Given the description of an element on the screen output the (x, y) to click on. 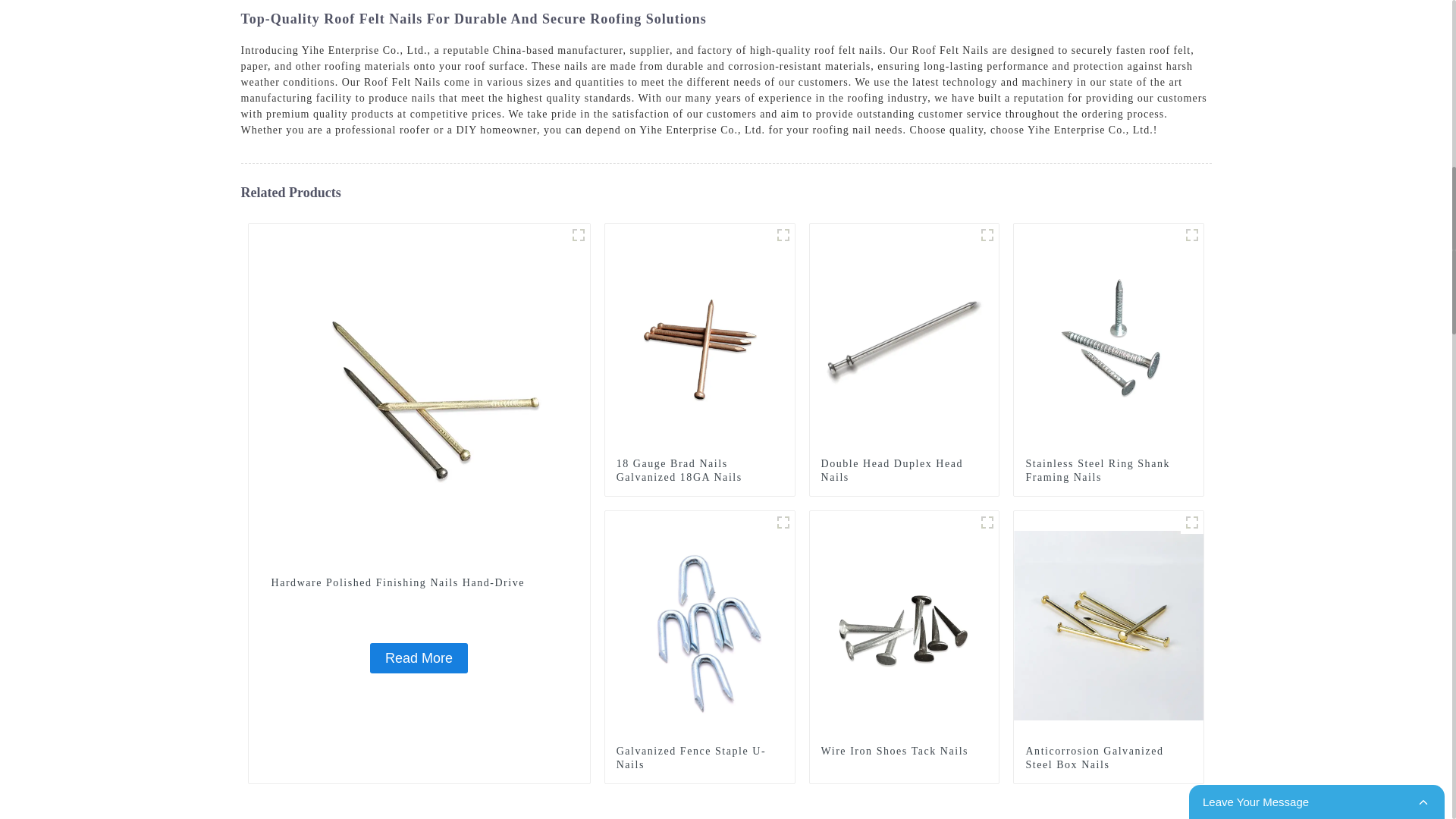
Shoe Nails Tack (986, 522)
Stainless Steel Ring Shank Framing Nails (1108, 337)
Double Head Duplex Head Nails (904, 470)
duplex head nail (986, 234)
Brad Nails (782, 234)
Hardware Polished Finishing Nails Hand-Drive (418, 657)
Double Head Duplex Head Nails (903, 337)
Wire Iron Shoes Tack Nails  (903, 624)
18 Gauge Brad Nails Galvanized 18GA Nails (699, 470)
Galvanized Fence Staple U-Nails (782, 522)
